Given the description of an element on the screen output the (x, y) to click on. 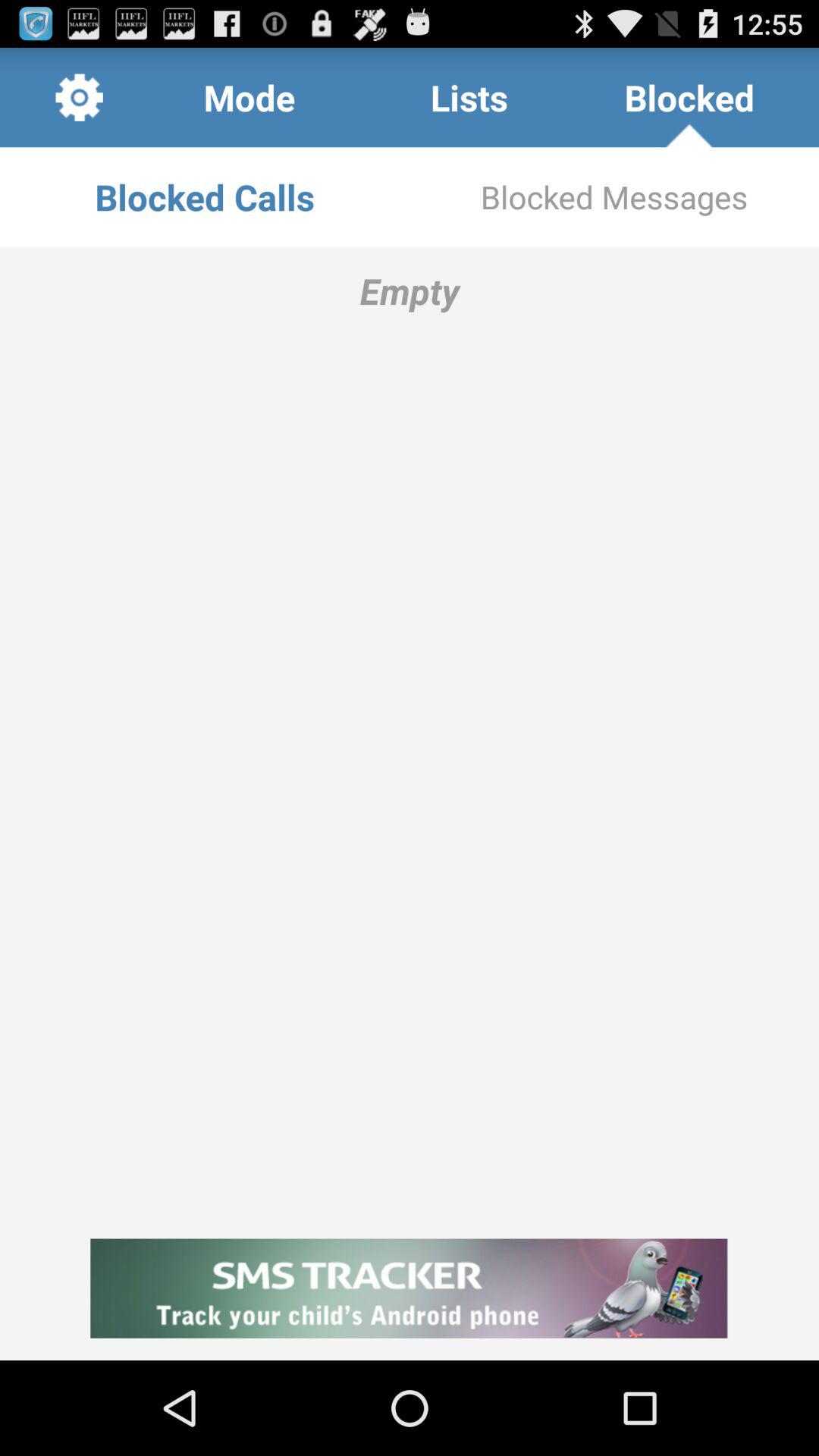
launch the icon above blocked calls icon (249, 97)
